Given the description of an element on the screen output the (x, y) to click on. 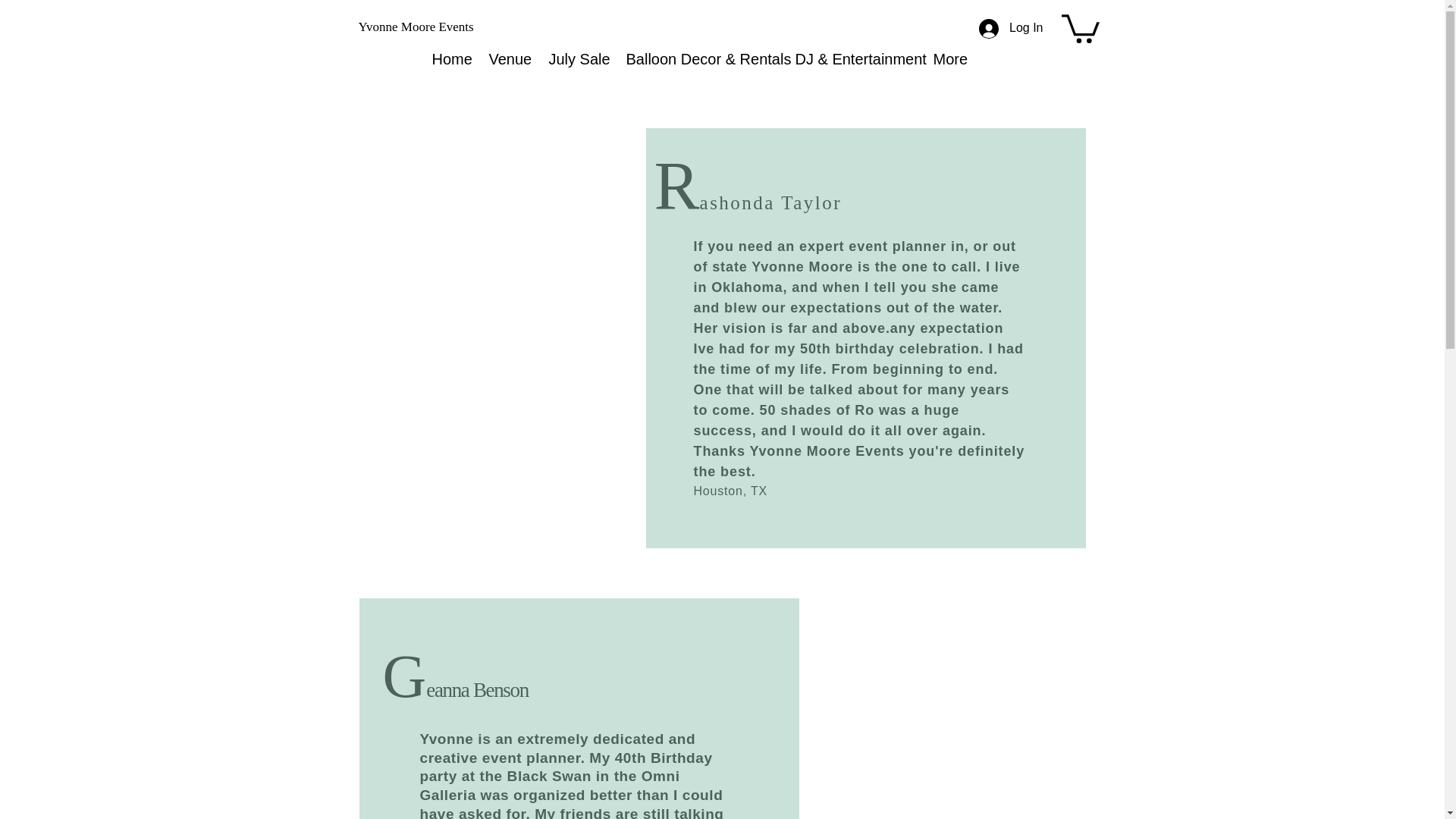
Log In (1010, 27)
July Sale (575, 58)
Home (448, 58)
Yvonne Moore Events (419, 27)
Venue (507, 58)
